Given the description of an element on the screen output the (x, y) to click on. 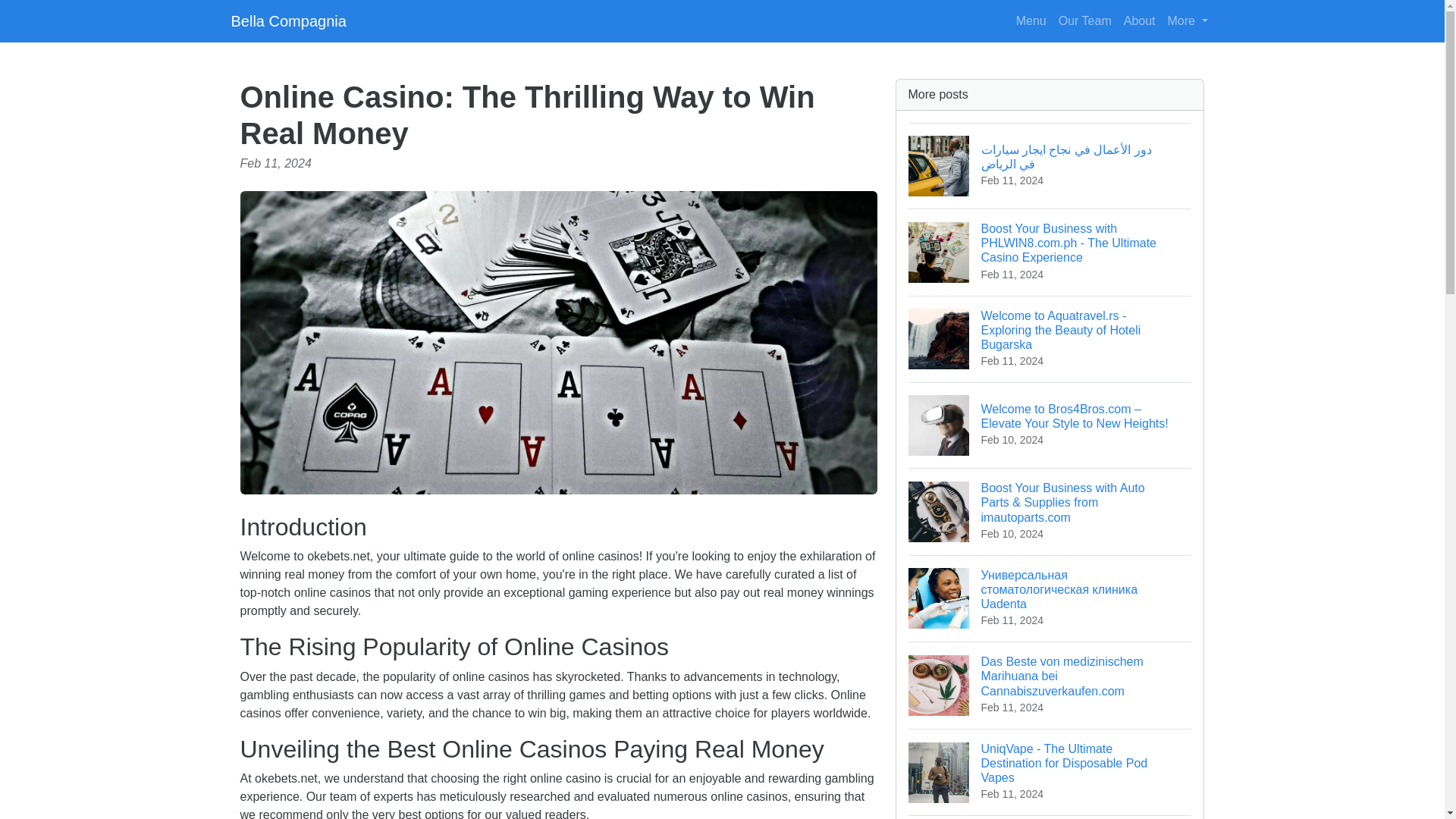
Bella Compagnia (288, 20)
Our Team (1085, 20)
About (1050, 816)
More (1139, 20)
Menu (1187, 20)
